Given the description of an element on the screen output the (x, y) to click on. 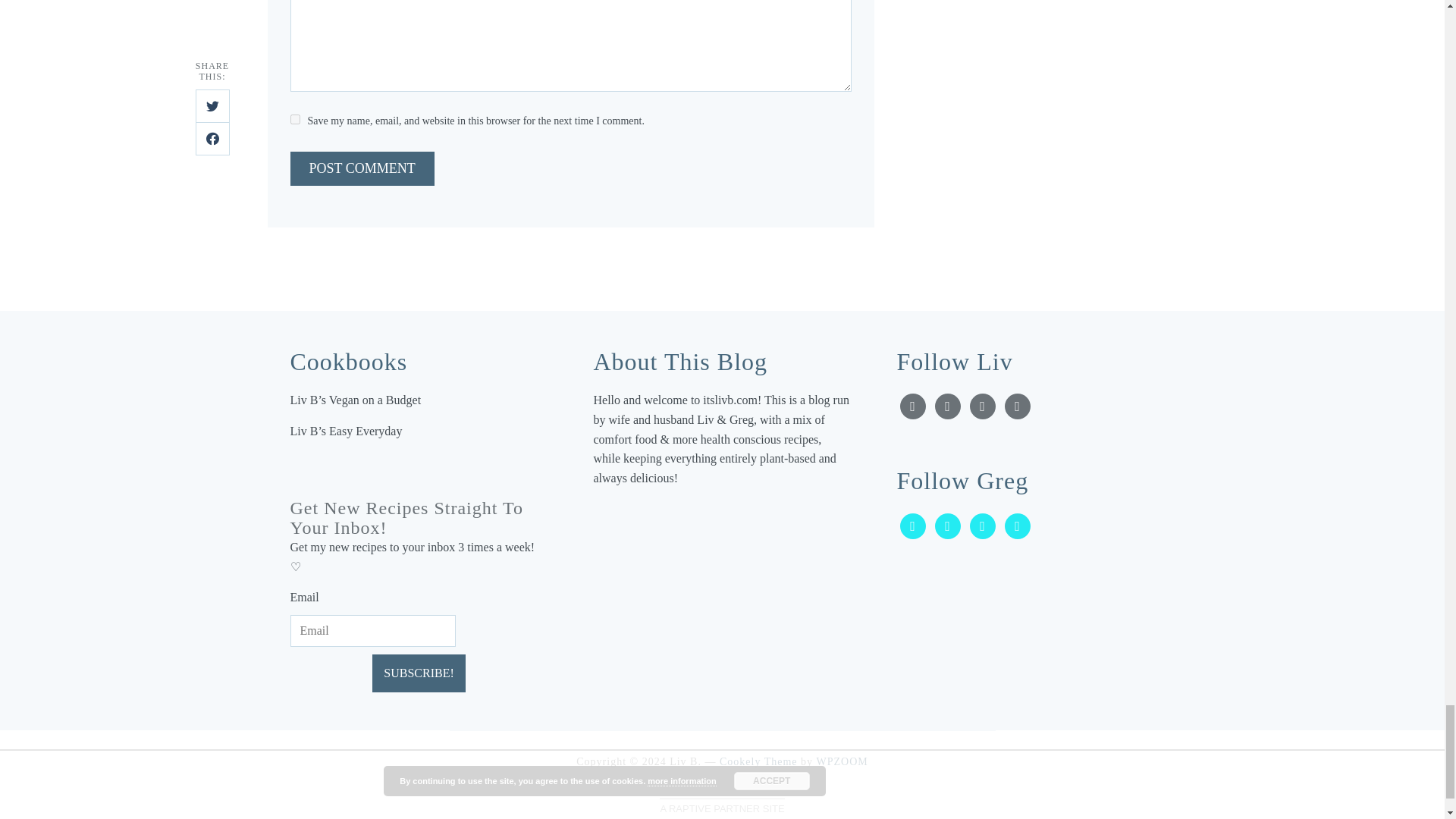
Post Comment (361, 168)
yes (294, 119)
